Given the description of an element on the screen output the (x, y) to click on. 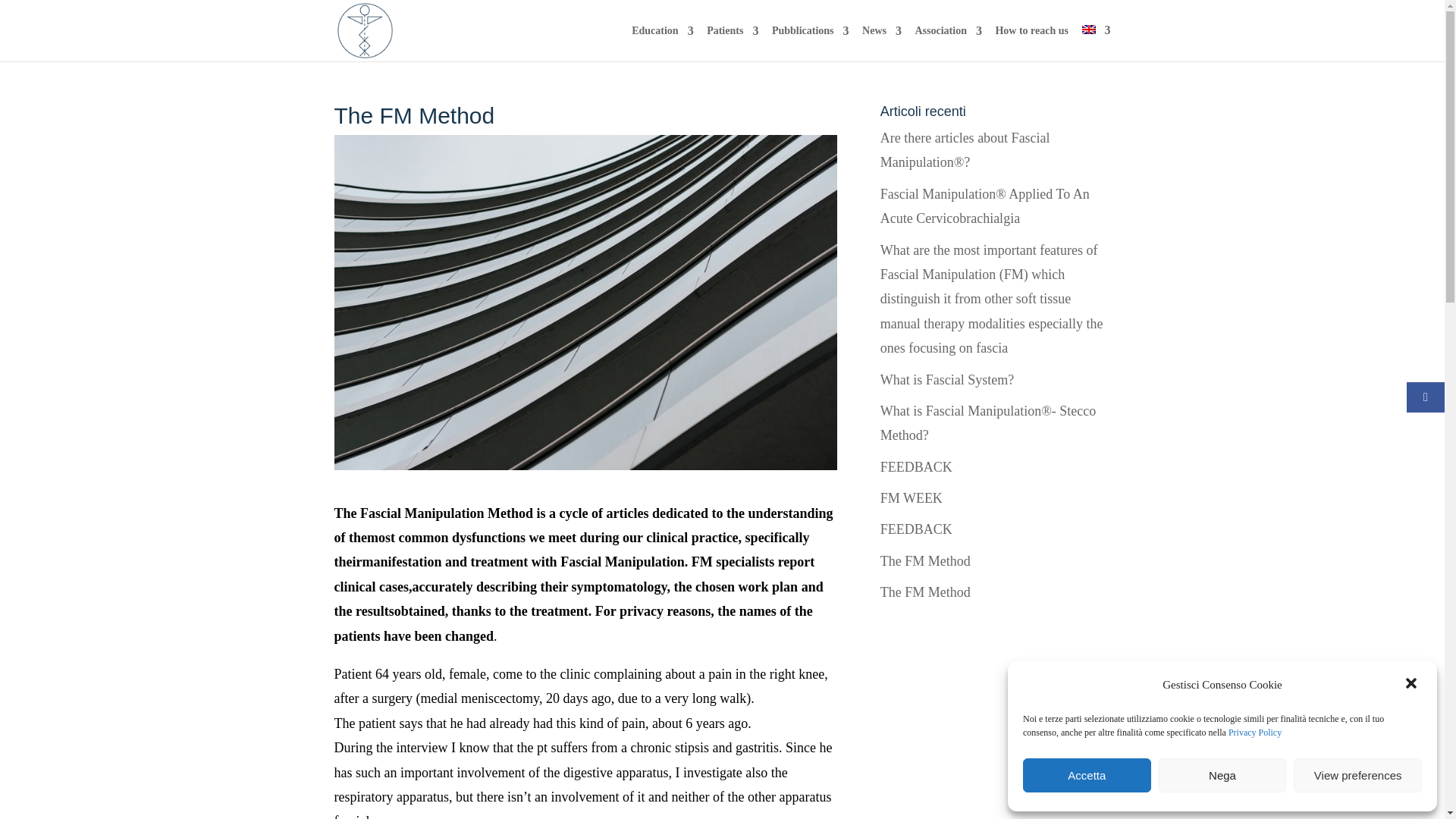
English (1087, 29)
Education (662, 43)
View preferences (1358, 775)
Patients (732, 43)
Nega (1222, 775)
Privacy Policy (1254, 732)
Pubblications (809, 43)
Accetta (1087, 775)
